Given the description of an element on the screen output the (x, y) to click on. 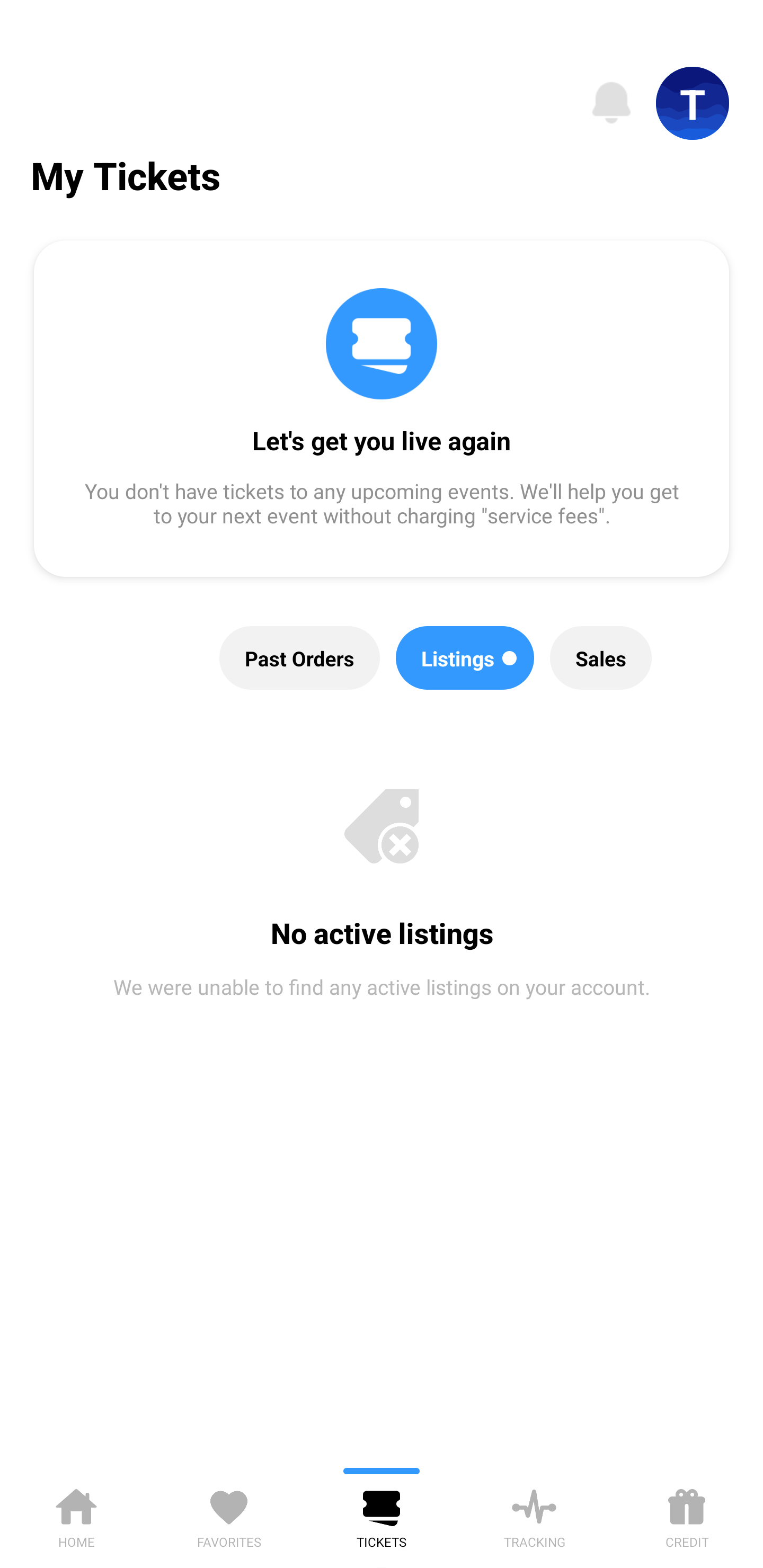
T (692, 103)
Past Orders (299, 657)
Listings (464, 657)
Sales (600, 657)
HOME (76, 1515)
FAVORITES (228, 1515)
TICKETS (381, 1515)
TRACKING (533, 1515)
CREDIT (686, 1515)
